Given the description of an element on the screen output the (x, y) to click on. 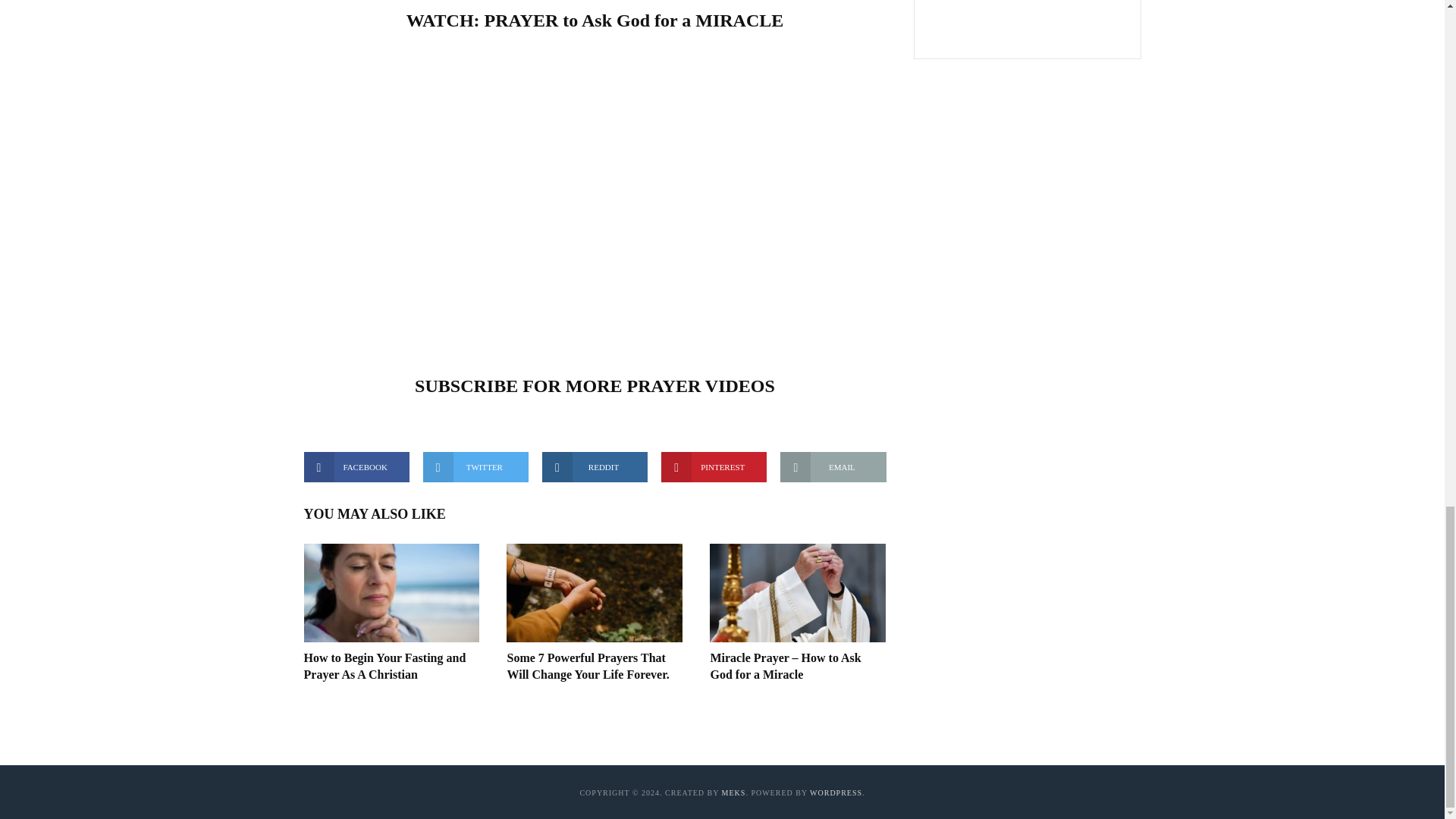
How to Begin Your Fasting and Prayer As A Christian (390, 592)
Some 7 Powerful Prayers That Will Change Your Life Forever. (594, 592)
